Given the description of an element on the screen output the (x, y) to click on. 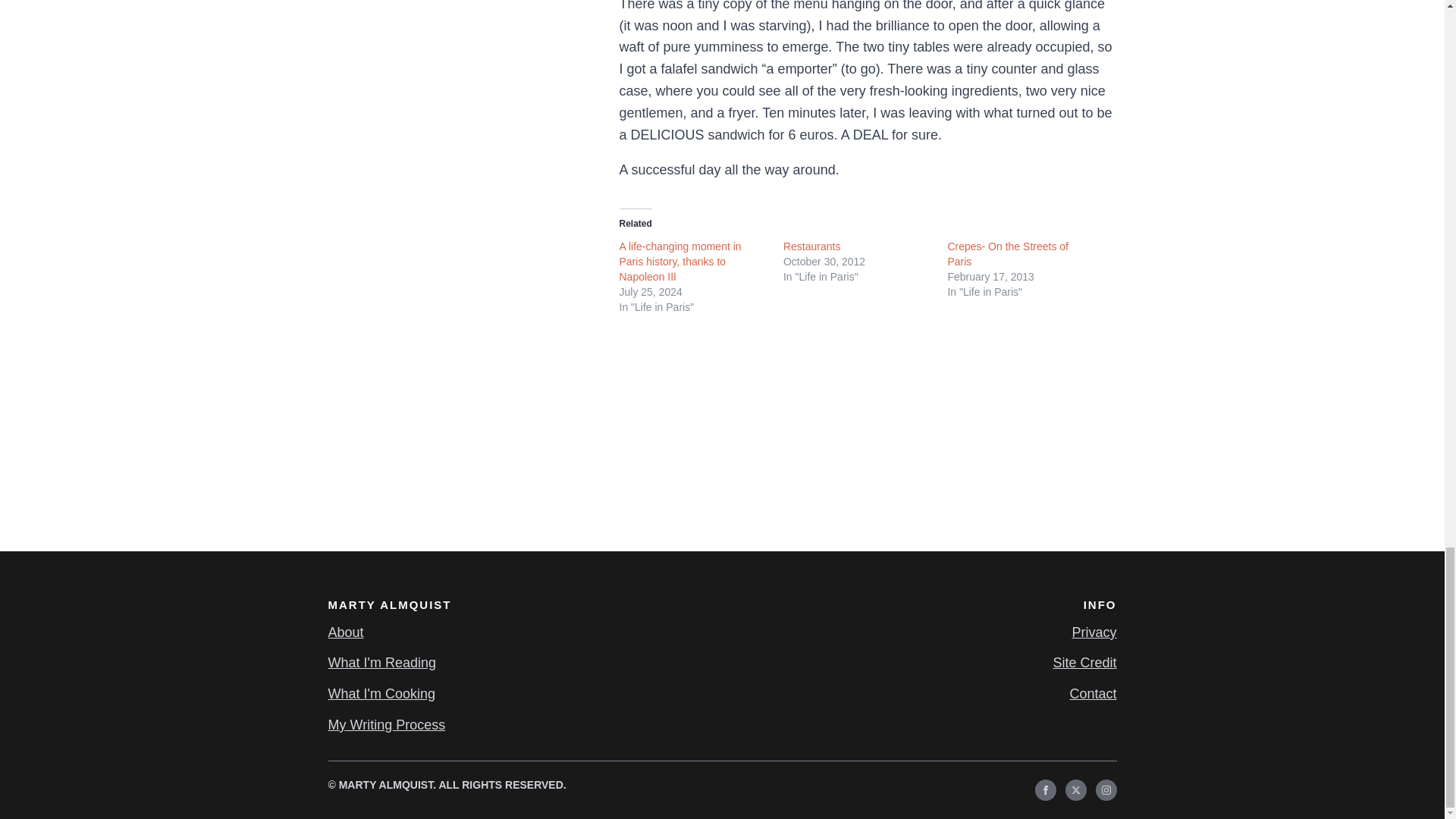
Crepes- On the Streets of Paris (1007, 253)
Contact (1092, 694)
Crepes- On the Streets of Paris (1007, 253)
Privacy (1093, 632)
Restaurants (811, 246)
Restaurants (811, 246)
What I'm Cooking (381, 694)
My Writing Process (386, 725)
